Given the description of an element on the screen output the (x, y) to click on. 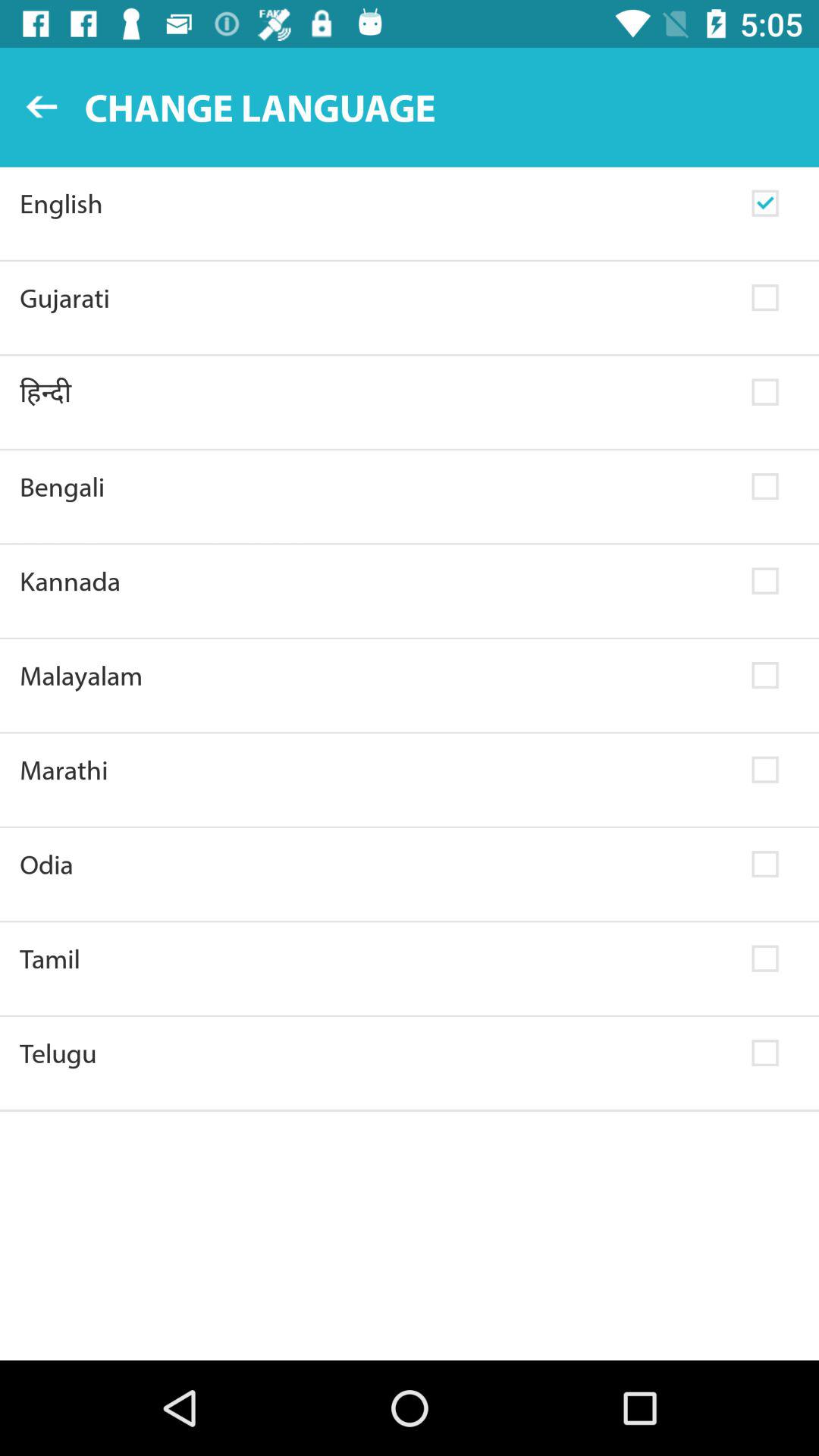
select the english item (375, 203)
